Given the description of an element on the screen output the (x, y) to click on. 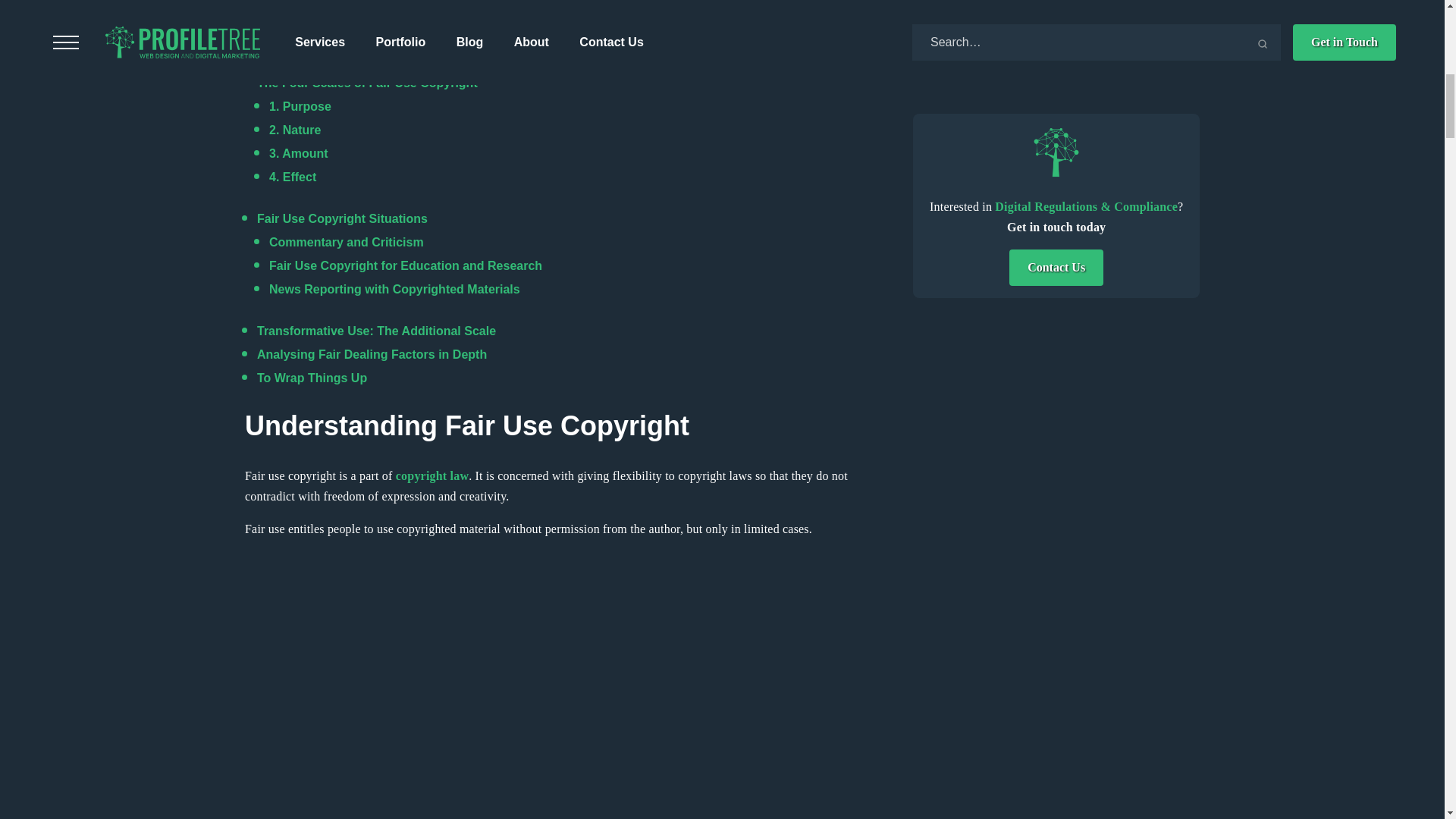
Commentary and Criticism (346, 241)
2. Nature (294, 129)
News Reporting with Copyrighted Materials (394, 288)
Transformative Use: The Additional Scale (376, 330)
Fair Use Copyright for Education and Research (405, 265)
Fair Use Copyright Situations (342, 218)
3. Amount (299, 153)
Understanding Fair Use Copyright (355, 35)
Analysing Fair Dealing Factors in Depth (371, 354)
1. Purpose (300, 106)
4. Effect (292, 176)
copyright law (432, 475)
To Wrap Things Up (311, 377)
The Four Scales of Fair Use Copyright (367, 82)
When Do You Use Fair Use Materials? (365, 59)
